Given the description of an element on the screen output the (x, y) to click on. 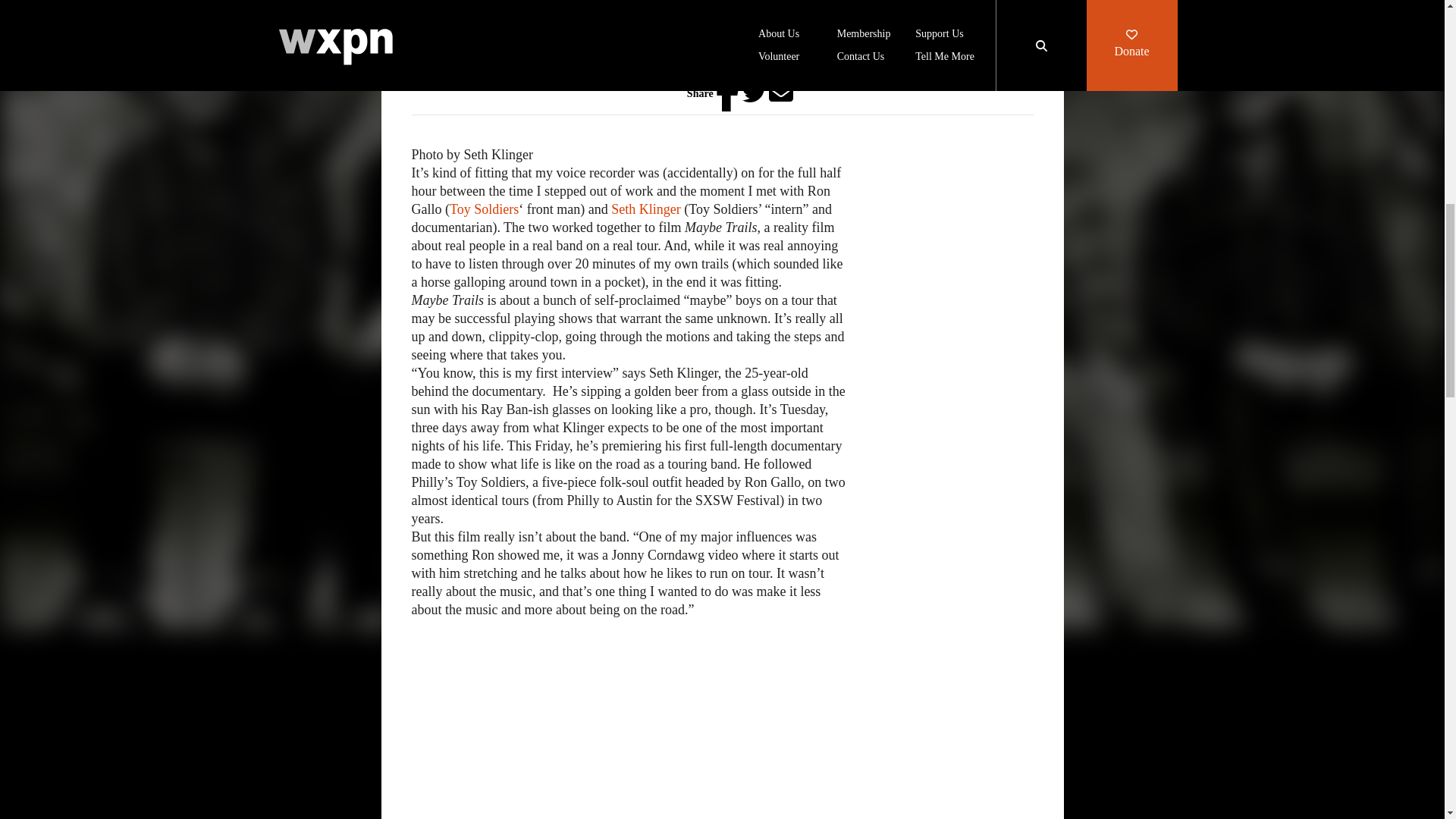
Seth Klinger (646, 209)
Nikki Volpicelli (462, 80)
Toy Soldiers (483, 209)
